Given the description of an element on the screen output the (x, y) to click on. 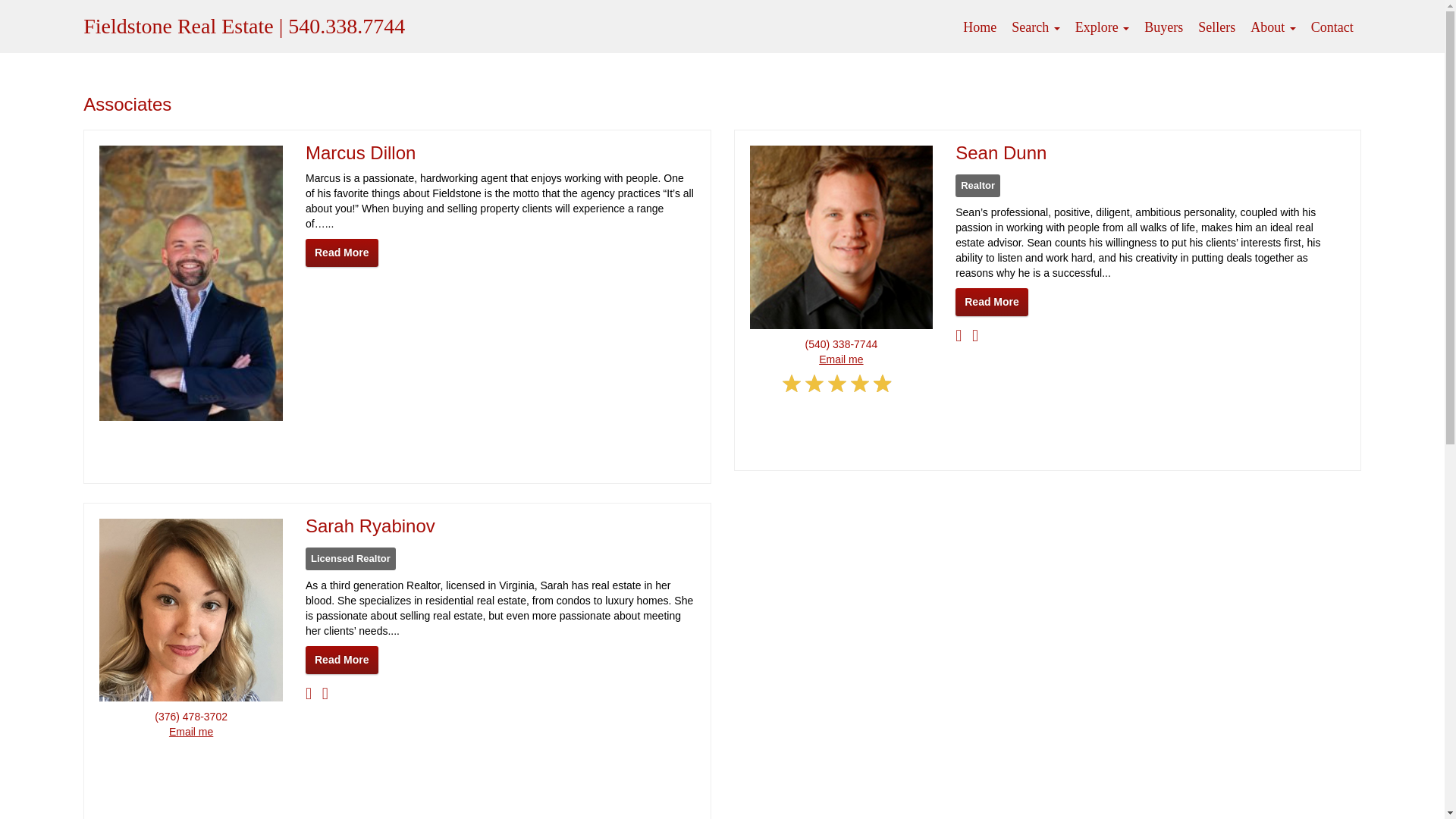
Buyers (1164, 26)
Home (979, 26)
Read More (341, 660)
About (1273, 26)
Sarah Ryabinov (370, 525)
Marcus Dillon (359, 152)
Search (1035, 26)
Sean Dunn (1000, 152)
Contact (1332, 26)
Read More (341, 252)
